Given the description of an element on the screen output the (x, y) to click on. 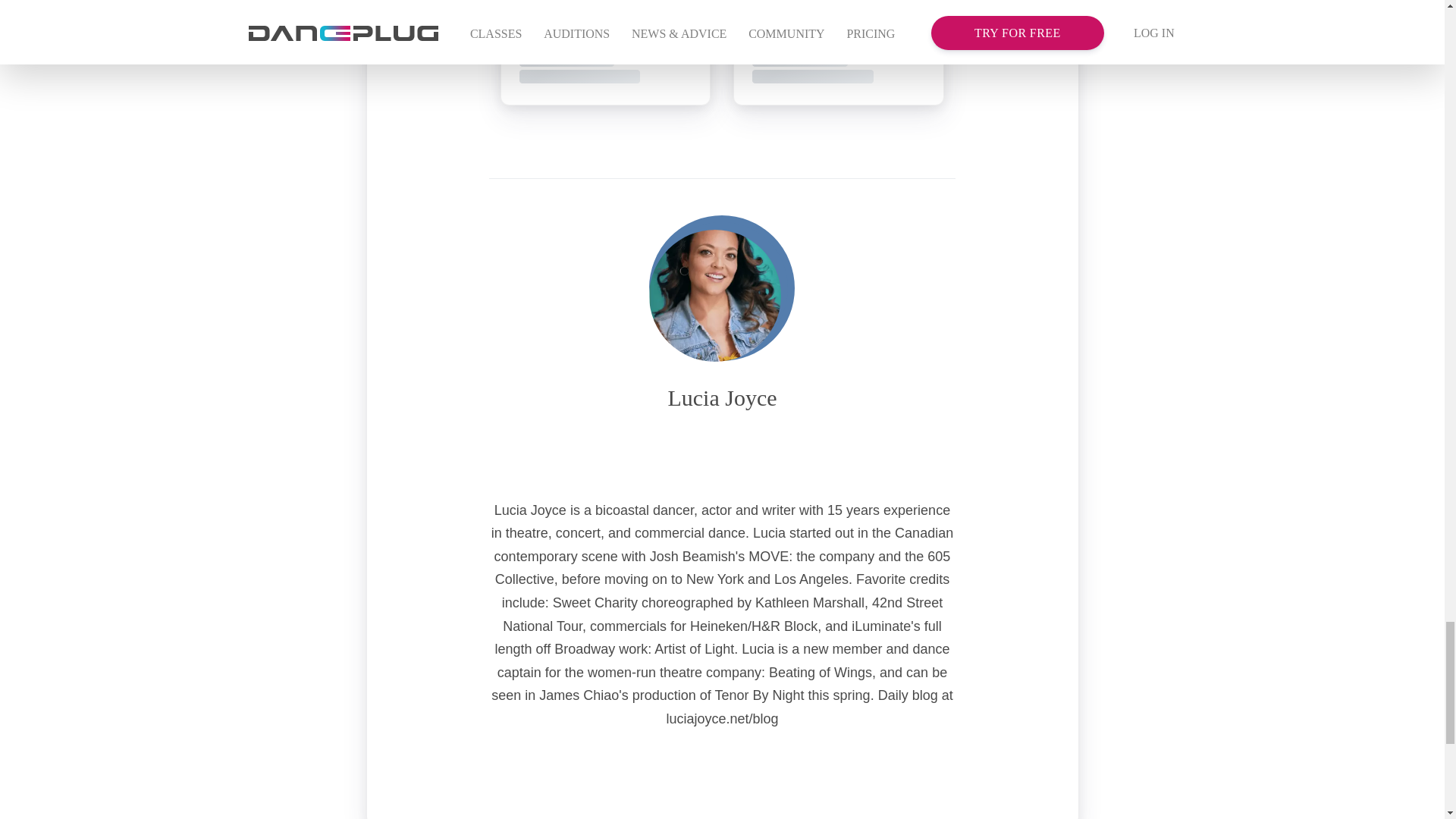
Subscribe to my Youtube Channel (722, 446)
Follow me on Instagram (690, 446)
Like me on Facebook (753, 446)
